Given the description of an element on the screen output the (x, y) to click on. 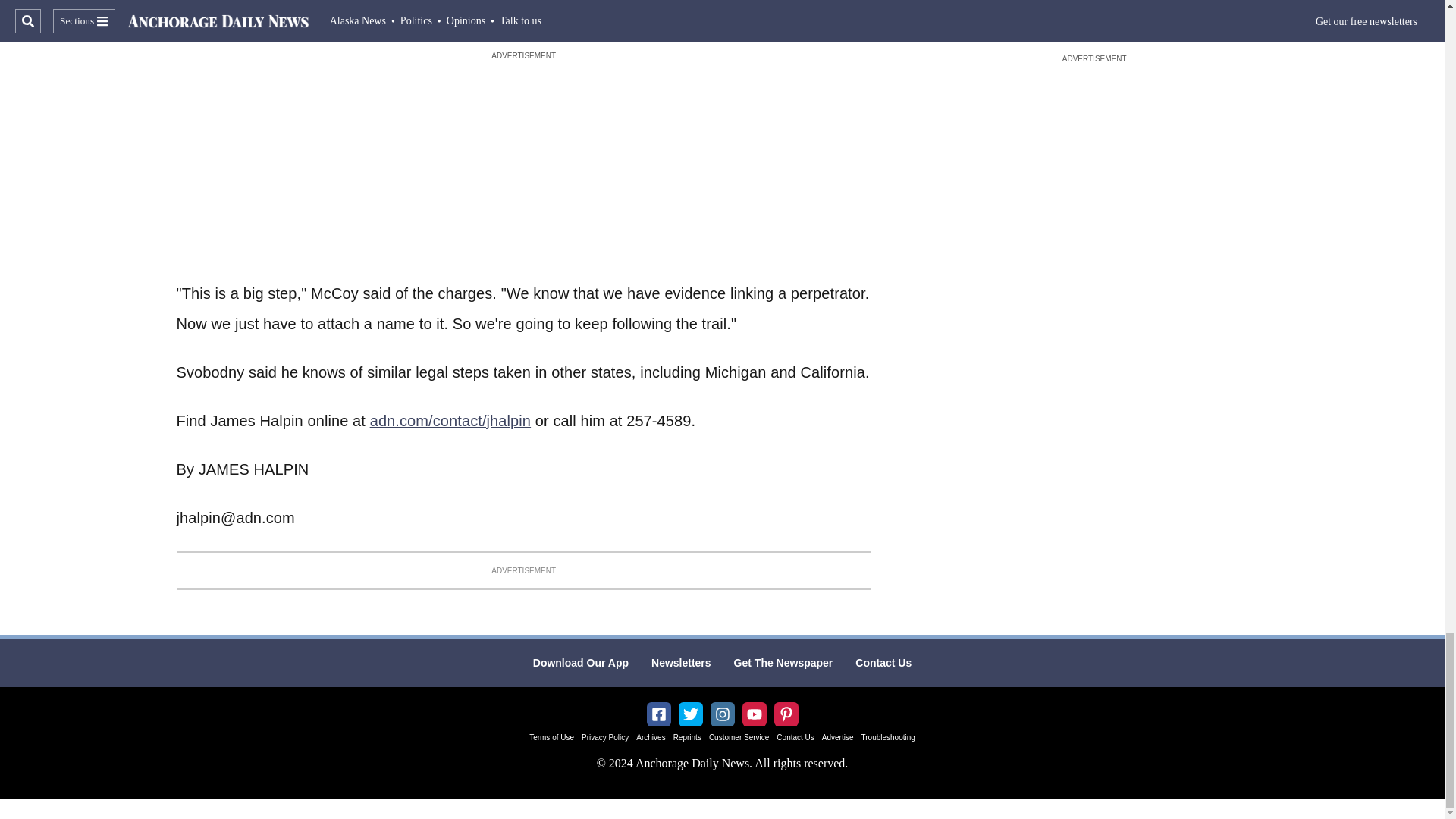
Twitter IconTwitter Account for Anchorage Daily News (689, 713)
YouTube iconAnchorage Daily News YouTube channel (753, 713)
Instagram IconAnchorage Daily News instagram account (721, 713)
PinterestAnchorage Daily News Pinterest Account (785, 713)
Facebook IconAnchorage Daily News Facebook Page (657, 713)
